Given the description of an element on the screen output the (x, y) to click on. 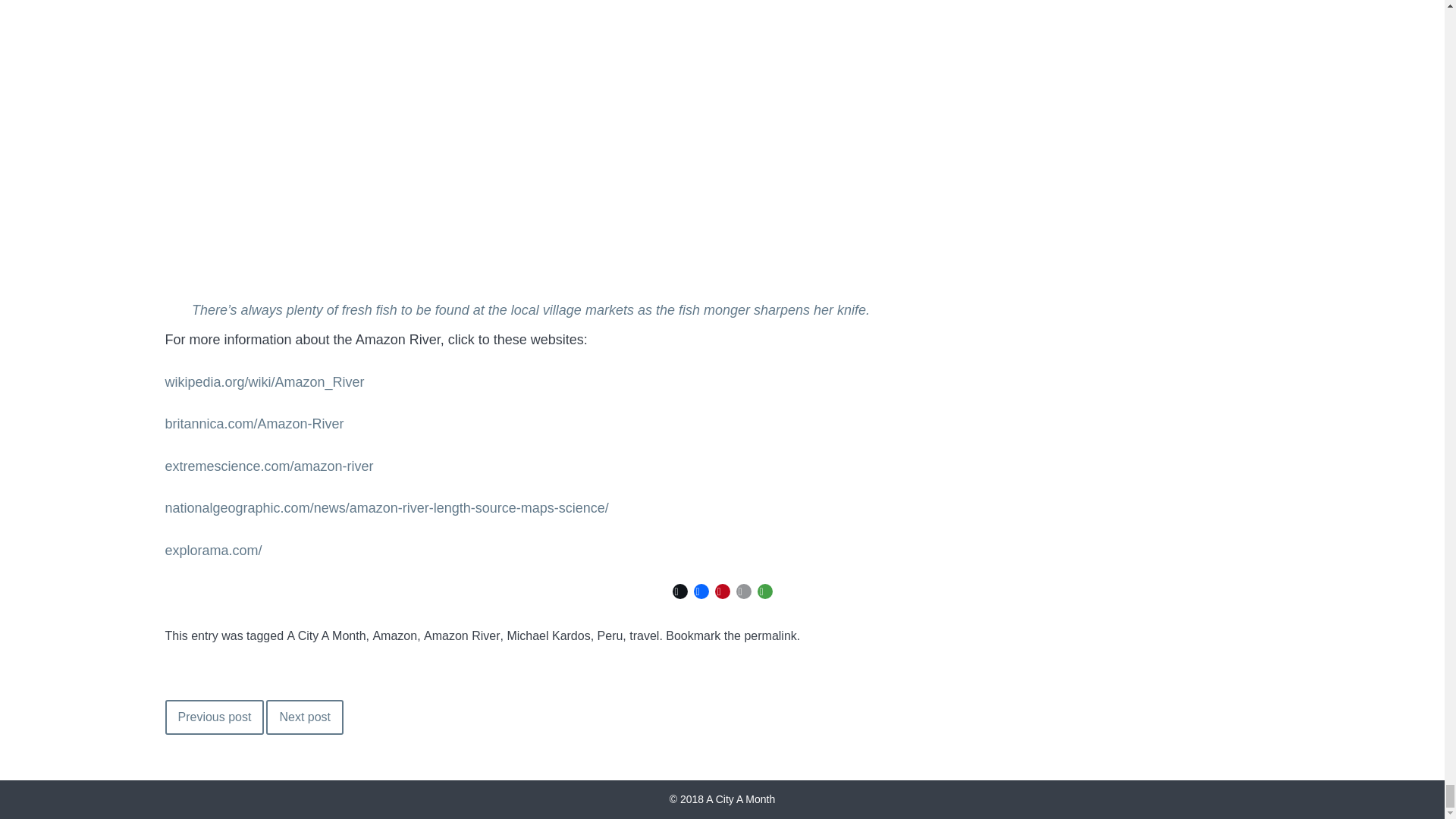
A City A Month (325, 636)
Pinterest (721, 590)
A City A Month (726, 799)
Michael Kardos (547, 636)
Next post (304, 717)
More Options (764, 590)
Previous post (214, 717)
Facebook (700, 590)
2018 A City A Month (726, 799)
travel (643, 636)
